Given the description of an element on the screen output the (x, y) to click on. 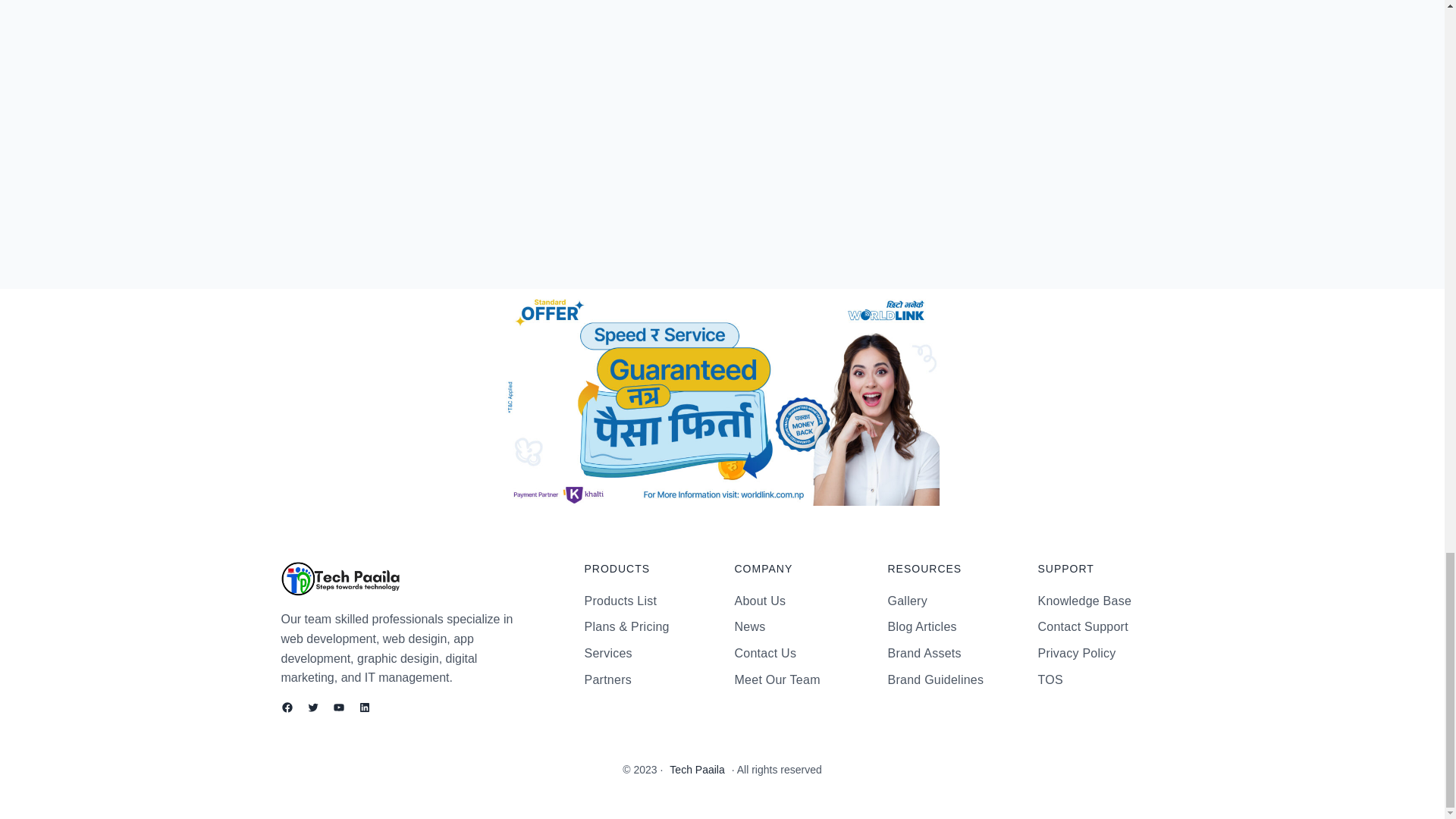
About Us (759, 600)
Services (607, 653)
Twitter (311, 707)
News (749, 627)
Blog Articles (921, 627)
Brand Assets (923, 653)
YouTube (337, 707)
Gallery (906, 600)
Brand Guidelines (935, 680)
Facebook (286, 707)
Contact Us (764, 653)
Partners (606, 680)
Products List (619, 600)
Meet Our Team (776, 680)
